Given the description of an element on the screen output the (x, y) to click on. 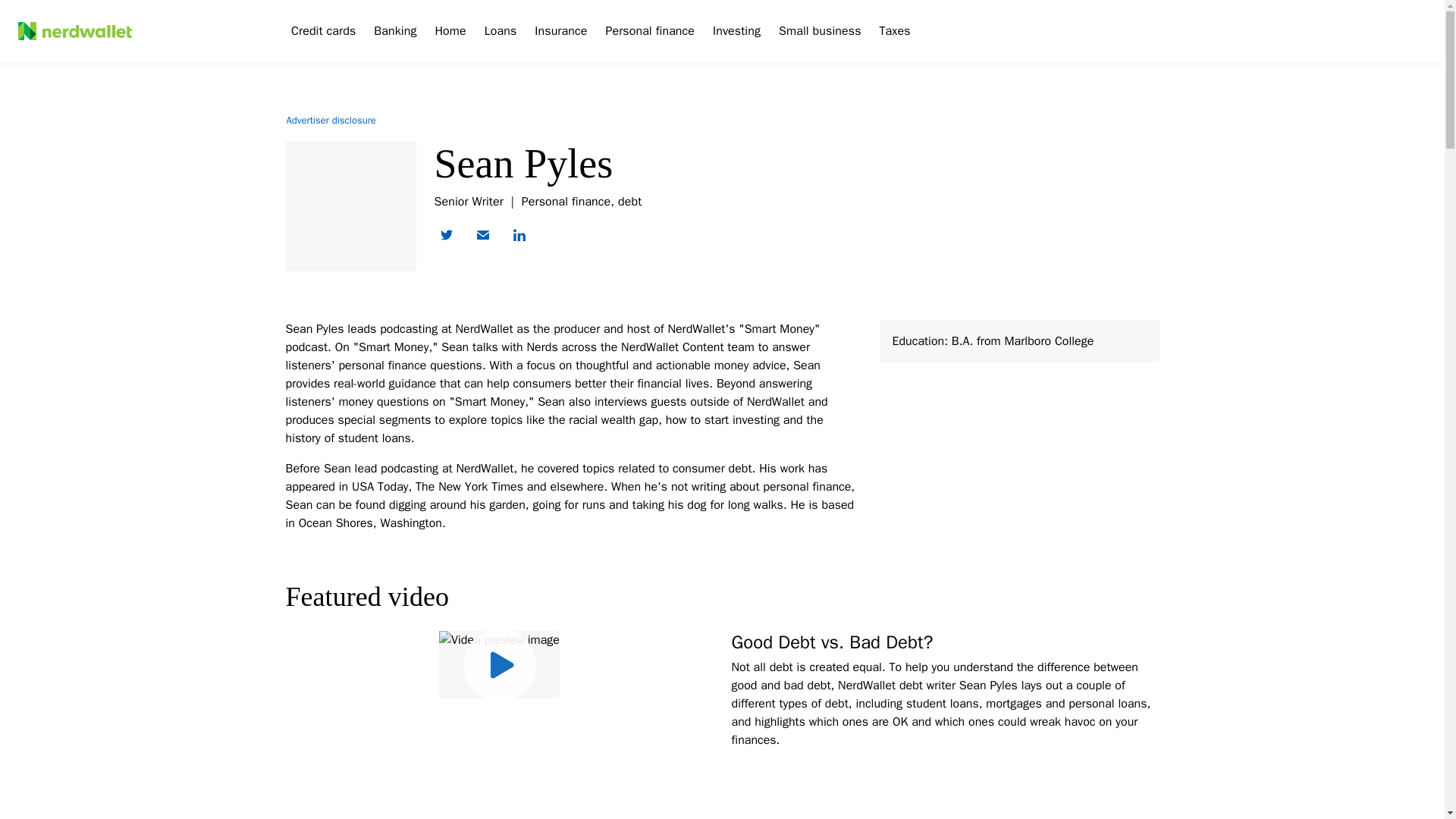
Advertiser Disclosure (330, 120)
